Given the description of an element on the screen output the (x, y) to click on. 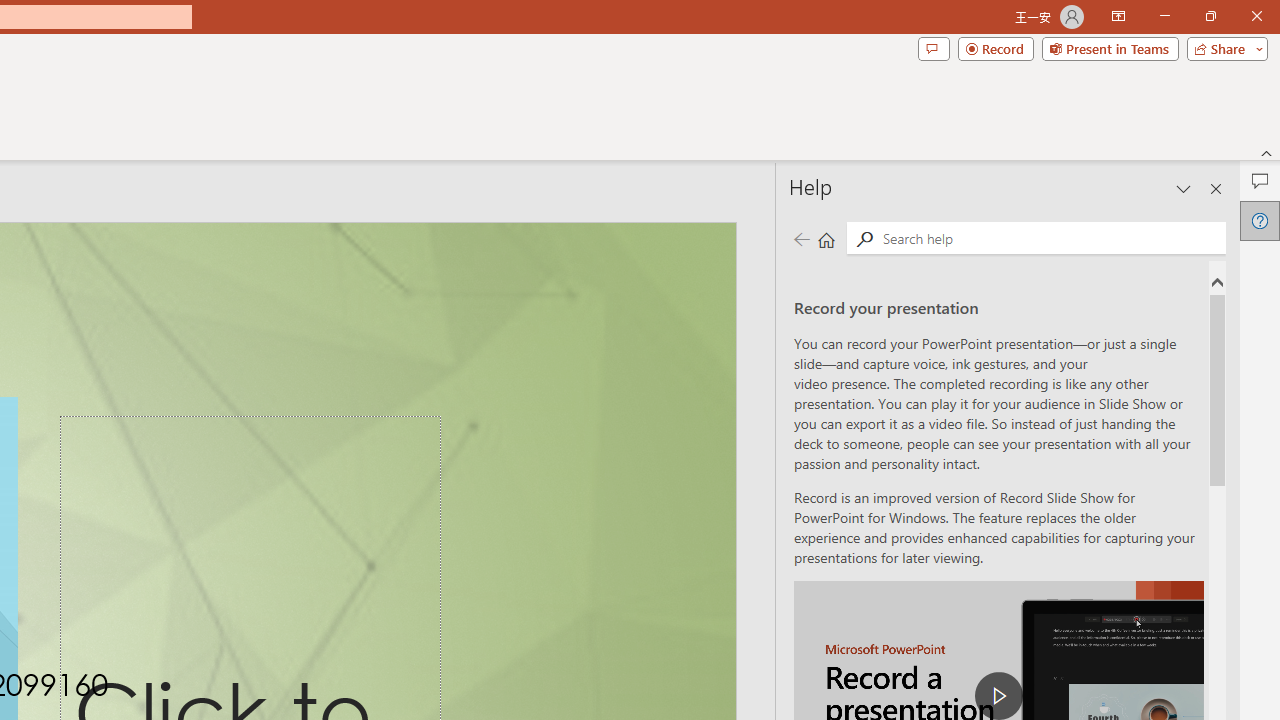
Previous page (801, 238)
play Record a Presentation (998, 695)
